Given the description of an element on the screen output the (x, y) to click on. 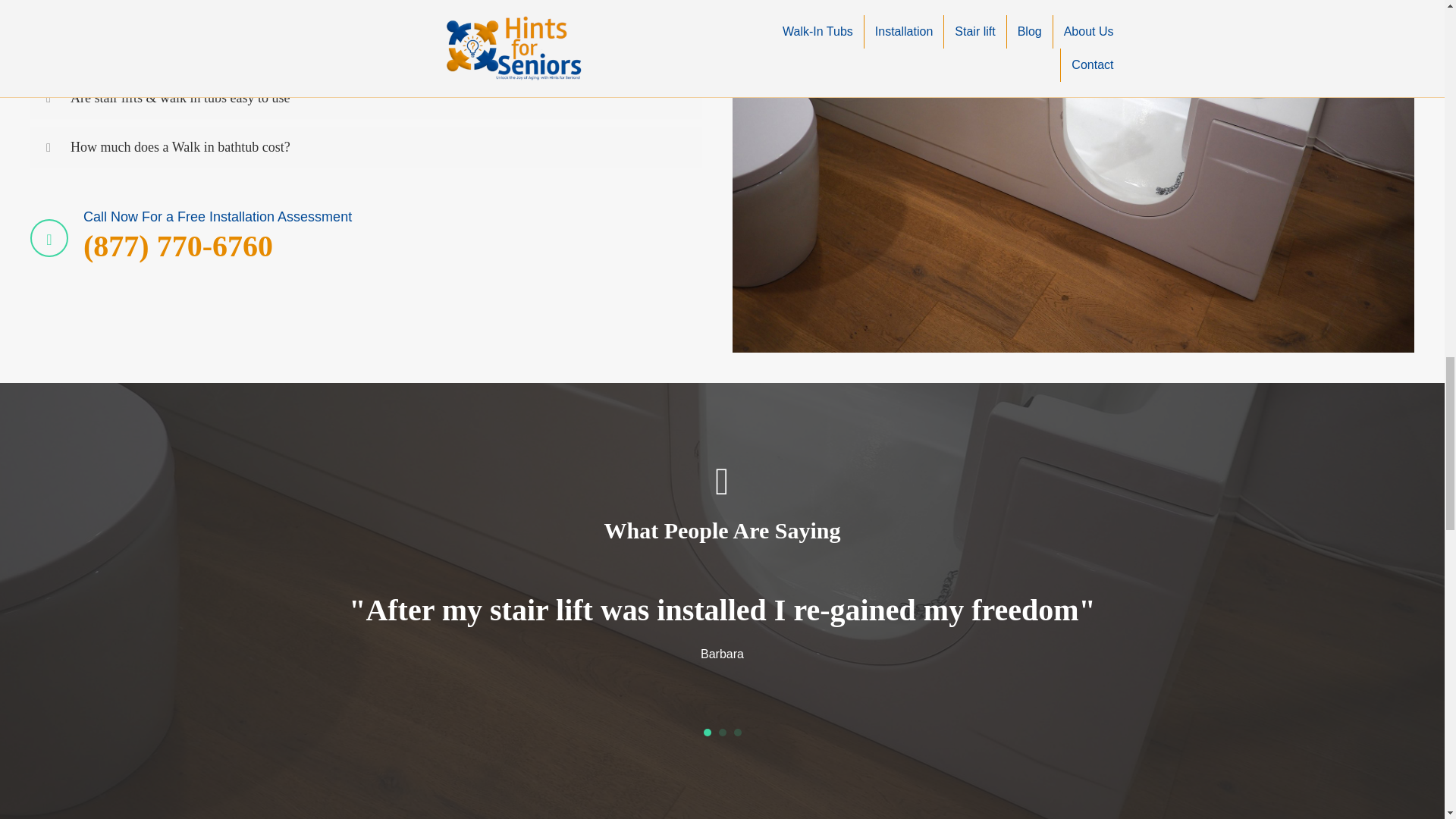
2 (722, 732)
1 (707, 732)
3 (737, 732)
